Given the description of an element on the screen output the (x, y) to click on. 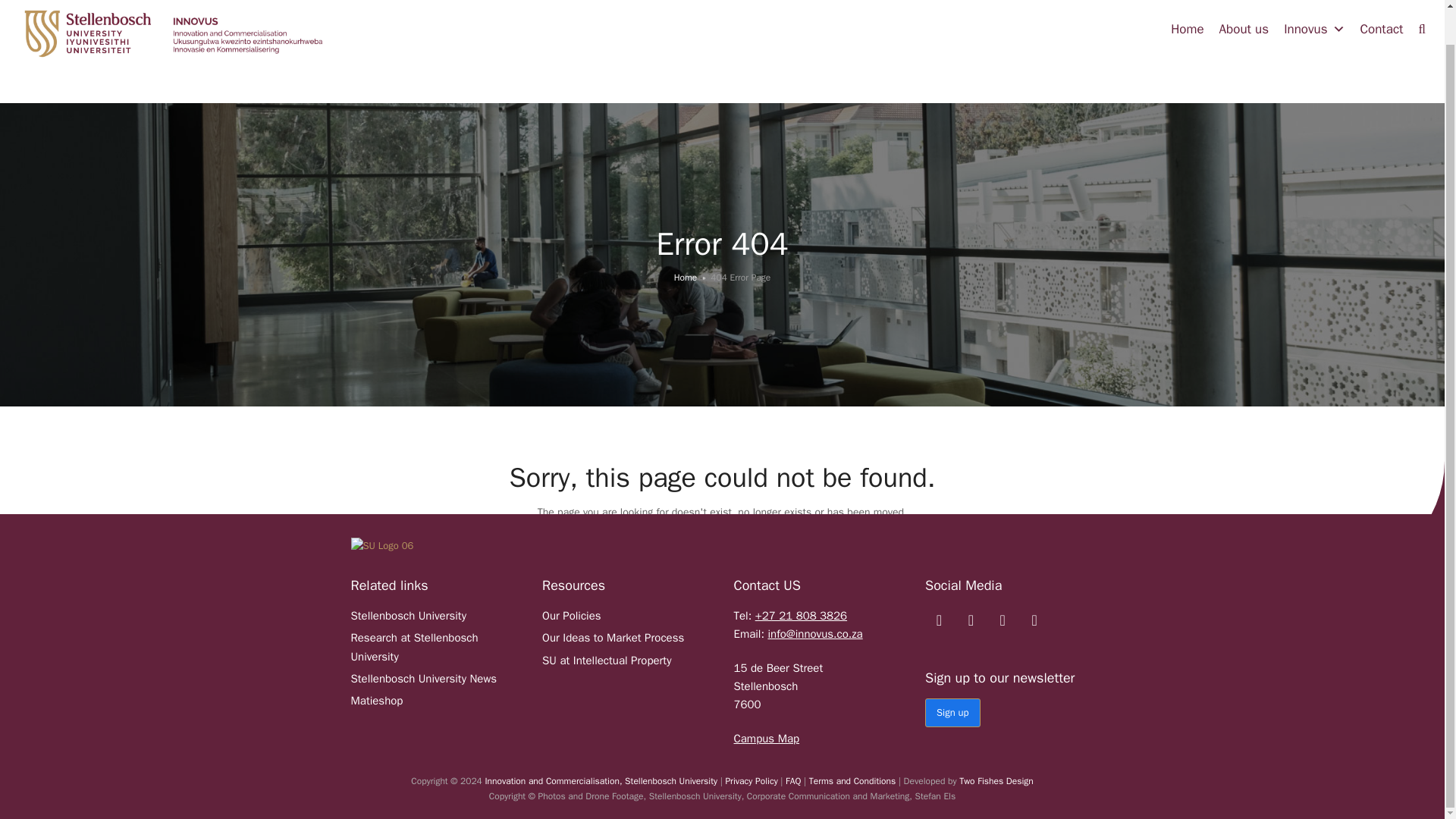
LinkedIn (970, 620)
About us (1243, 29)
Home (1187, 29)
Contact (1381, 29)
Innovus (1314, 29)
Twitter (1034, 620)
YouTube (1002, 620)
Facebook (938, 620)
